Given the description of an element on the screen output the (x, y) to click on. 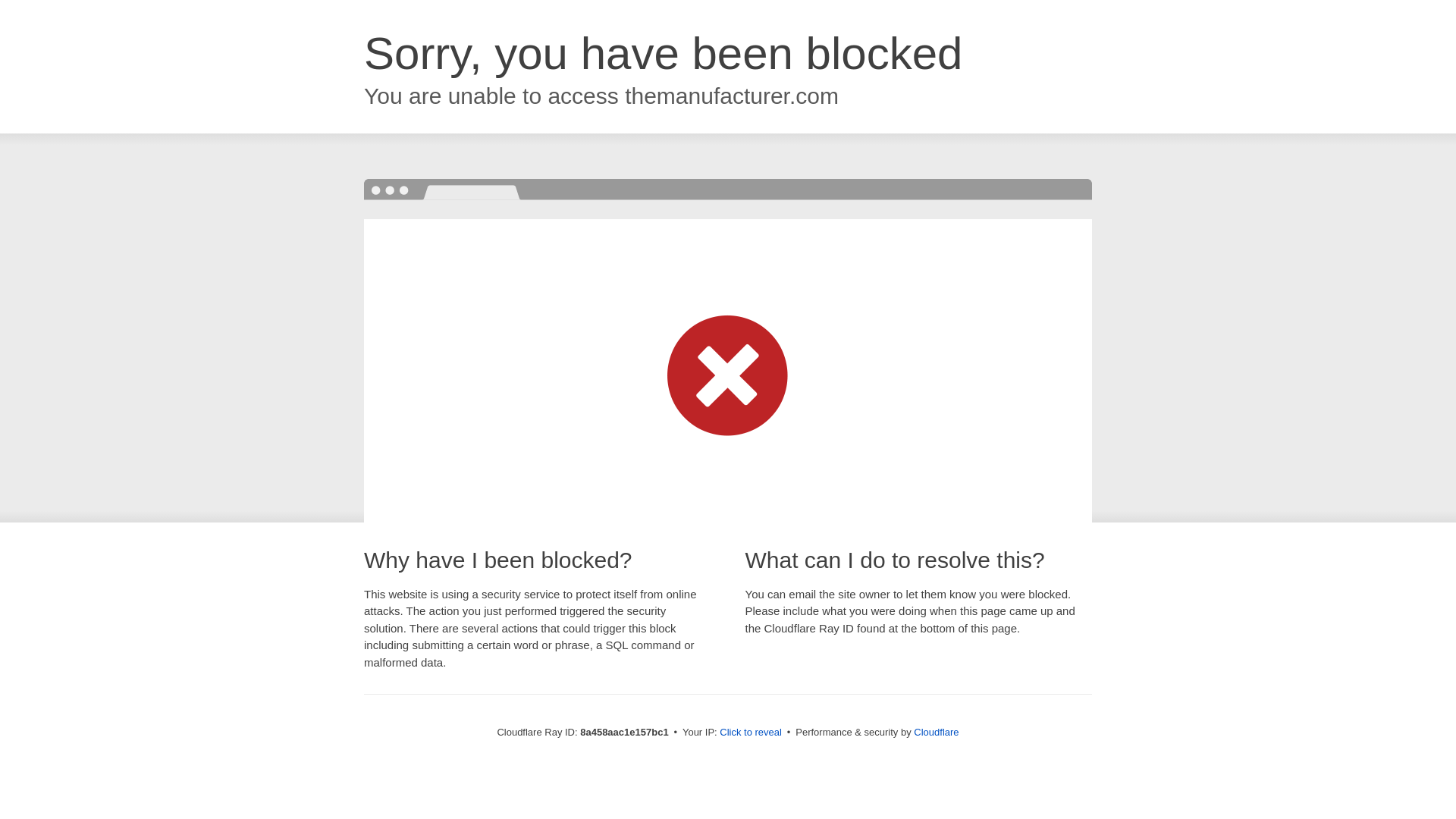
Cloudflare (936, 731)
Click to reveal (750, 732)
